Given the description of an element on the screen output the (x, y) to click on. 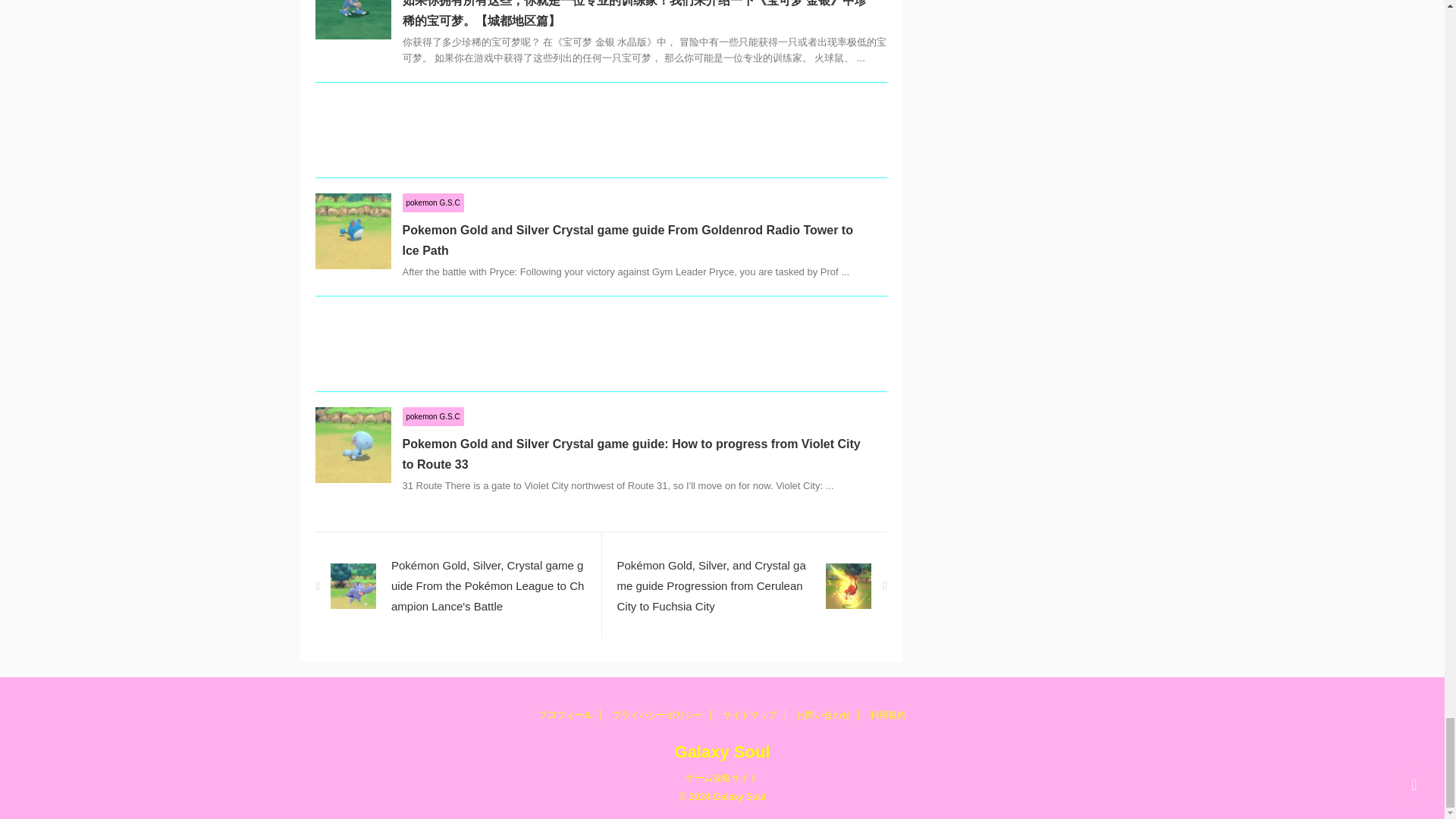
View all posts in pokemon G.S.C (432, 202)
